Given the description of an element on the screen output the (x, y) to click on. 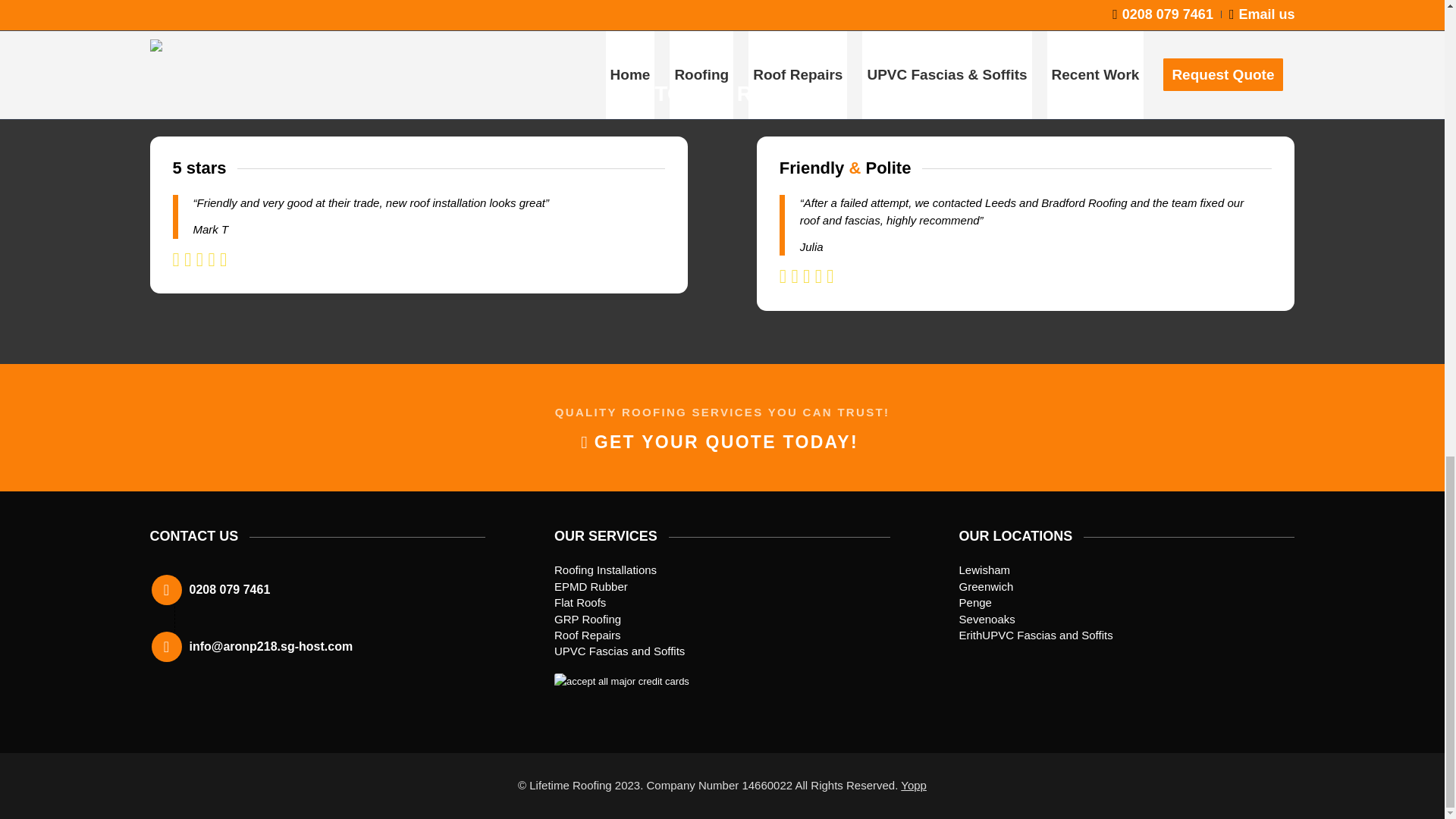
0208 079 7461 (229, 589)
Roof Repairs (587, 634)
0208 079 7461 (229, 589)
EPMD Rubber (590, 585)
GRP Roofing (587, 618)
Roofing Installations (605, 569)
UPVC Fascias and Soffits (619, 650)
81SavYYczQL-1536x284 (667, 693)
Yopp (913, 784)
Flat Roofs (579, 602)
